Given the description of an element on the screen output the (x, y) to click on. 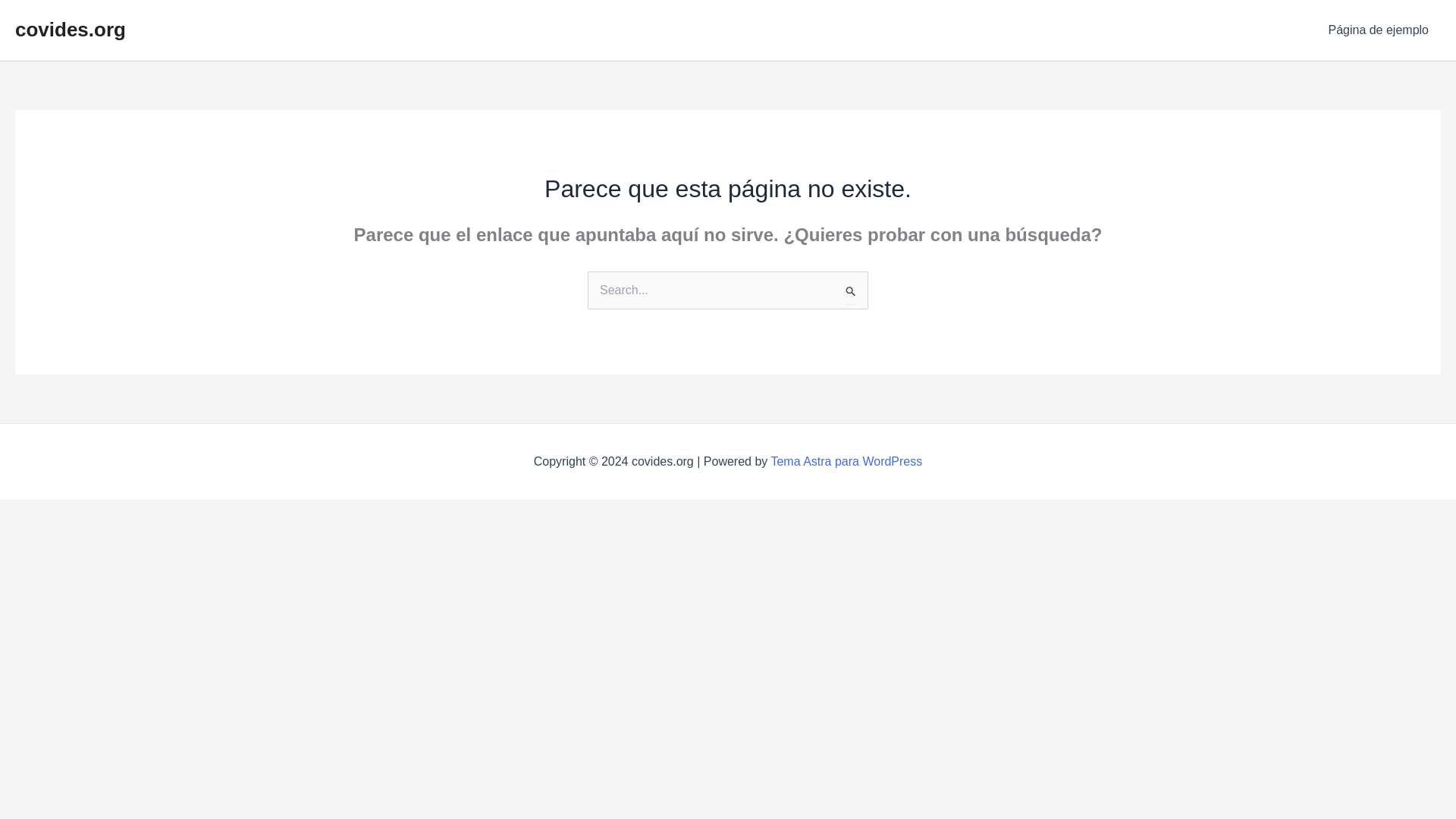
covides.org (69, 29)
Tema Astra para WordPress (845, 461)
